Given the description of an element on the screen output the (x, y) to click on. 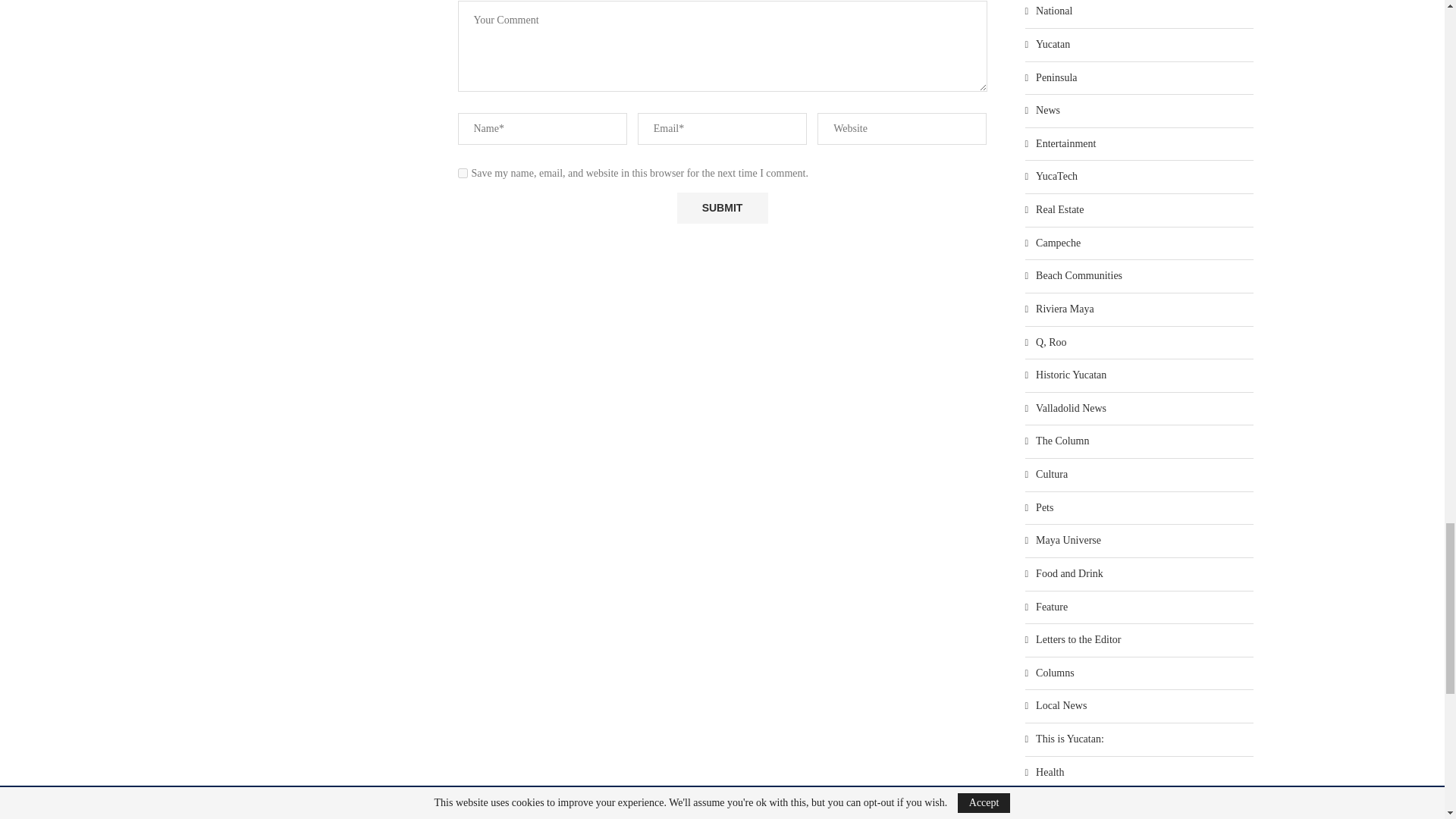
Submit (722, 207)
yes (462, 173)
